Given the description of an element on the screen output the (x, y) to click on. 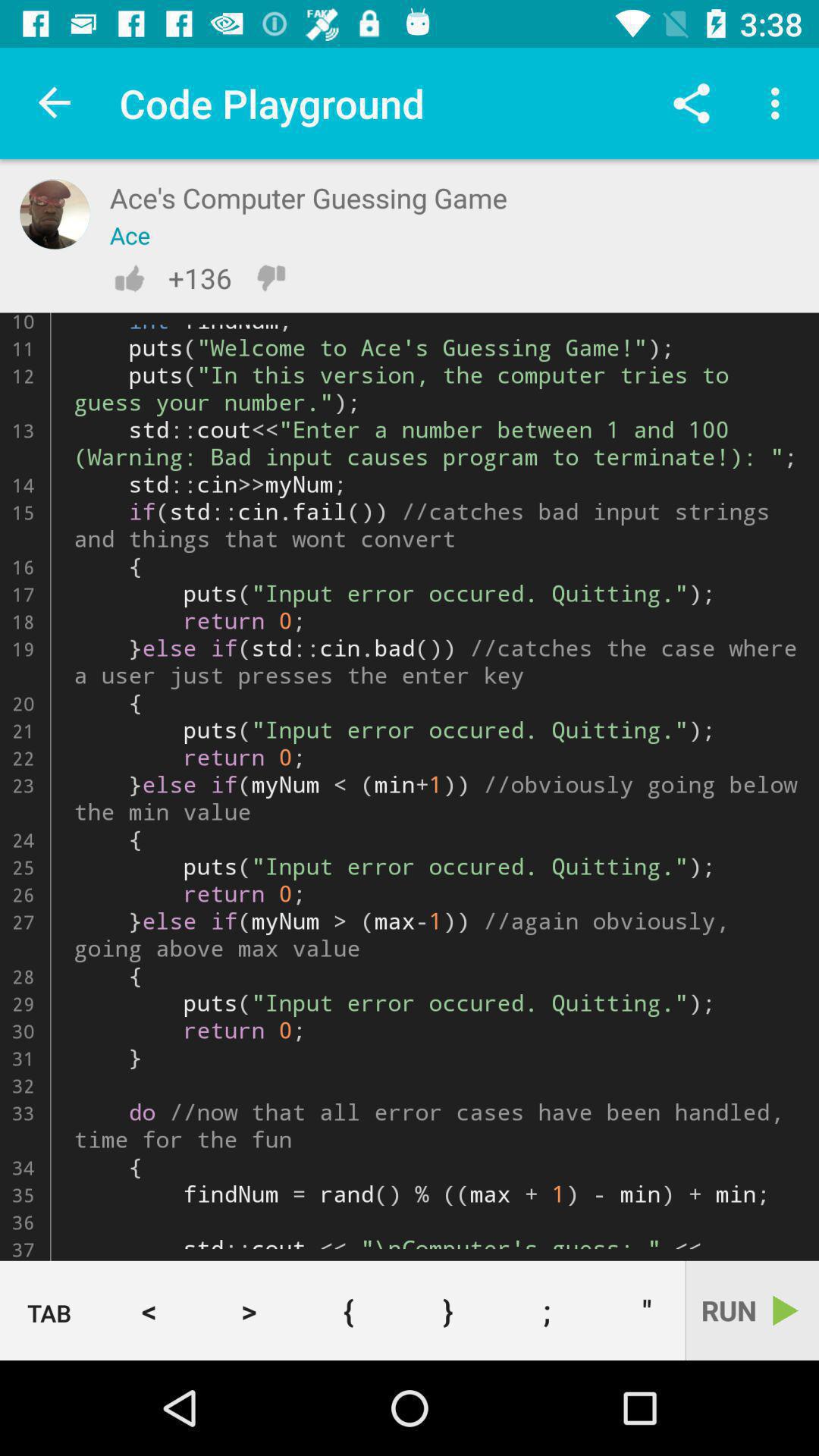
down vote this code (270, 277)
